Given the description of an element on the screen output the (x, y) to click on. 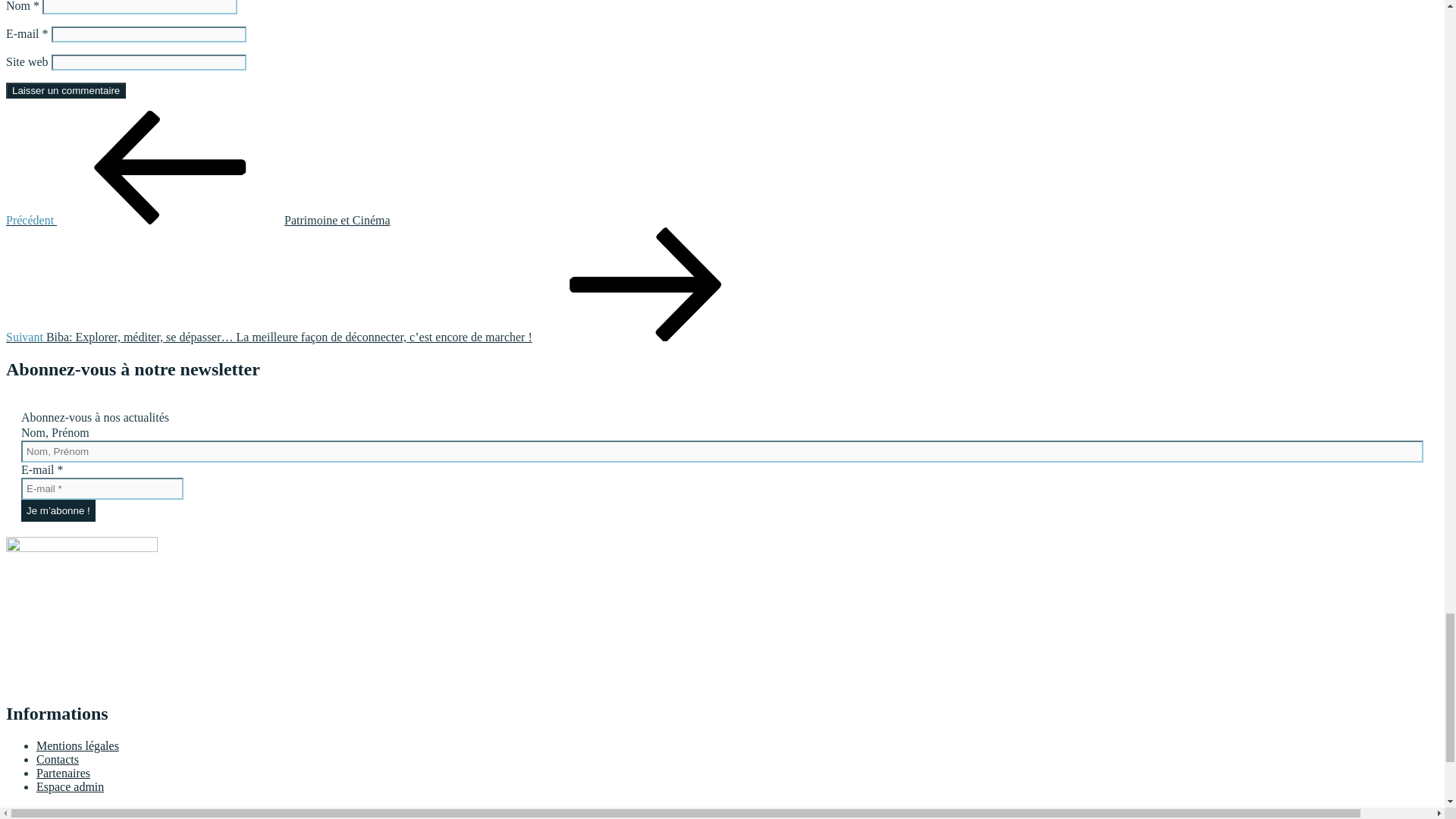
Laisser un commentaire (65, 90)
Contacts (57, 758)
E-mail (102, 488)
Laisser un commentaire (65, 90)
Partenaires (63, 772)
